Given the description of an element on the screen output the (x, y) to click on. 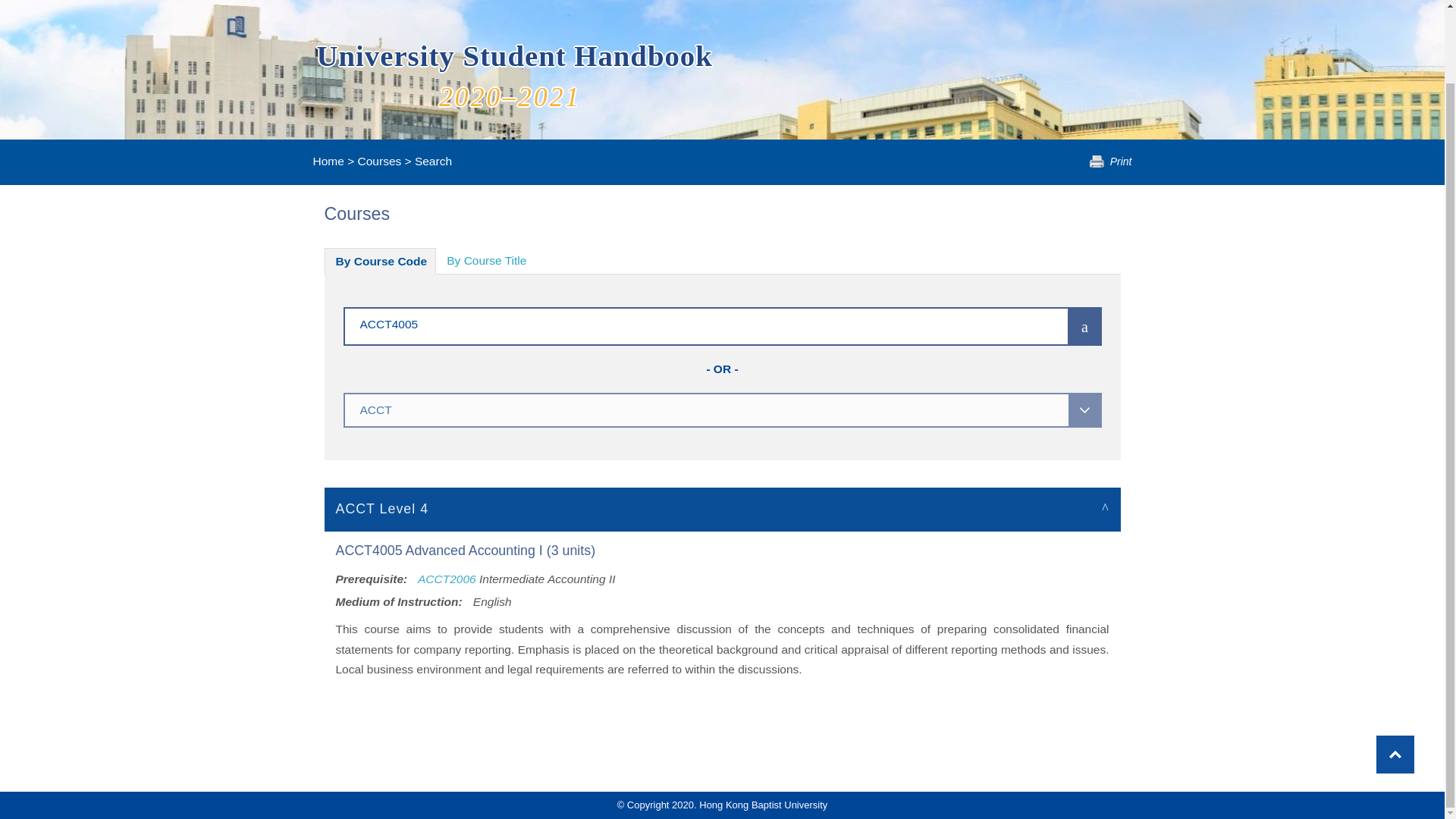
By Course Code (381, 261)
Courses (379, 160)
Scroll To Top (1394, 672)
Scroll To Top (1394, 672)
ACCT4005 (683, 322)
ACCT4005 (683, 322)
Home (328, 160)
By Course Title (486, 260)
Print (1110, 161)
ACCT2006 (446, 578)
